Given the description of an element on the screen output the (x, y) to click on. 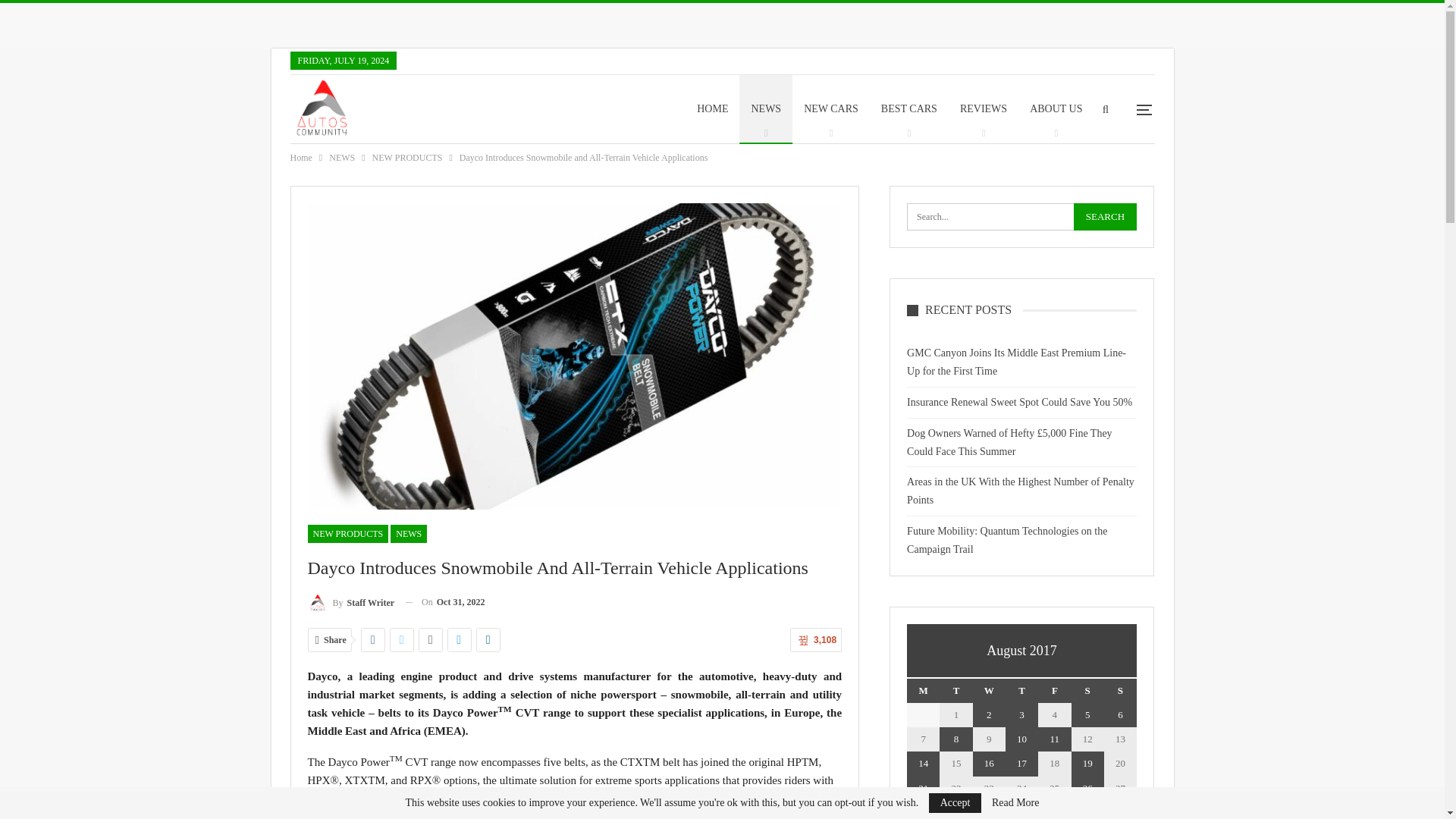
Browse Author Articles (350, 602)
Search for: (1022, 216)
Search (1105, 216)
Search (1105, 216)
